Given the description of an element on the screen output the (x, y) to click on. 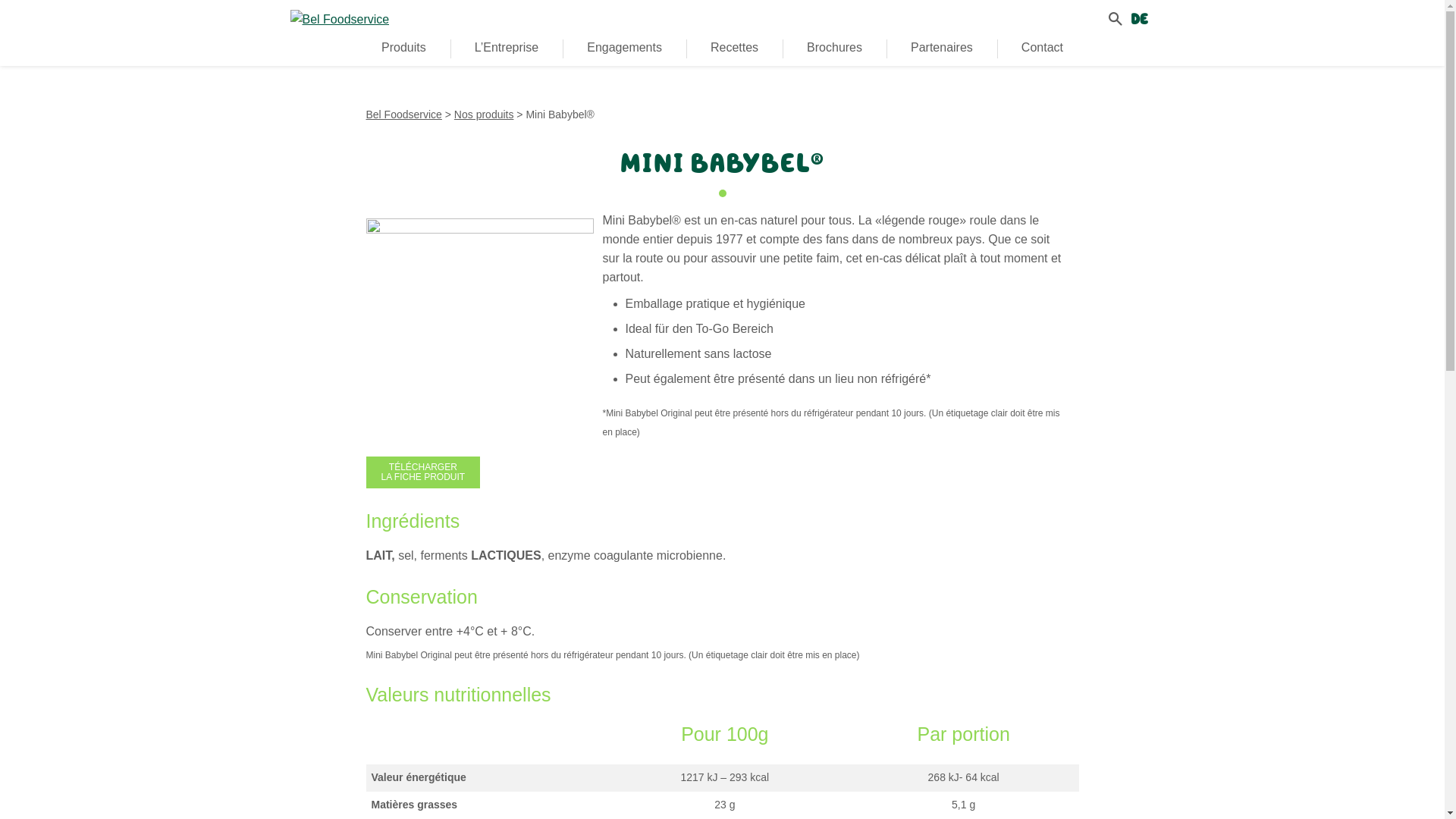
Bel Foodservice Element type: text (403, 114)
Contact Element type: text (1042, 47)
Partenaires Element type: text (941, 47)
DE Element type: text (1137, 18)
Nos produits Element type: text (484, 114)
Produits Element type: text (403, 47)
Brochures Element type: text (834, 47)
Engagements Element type: text (624, 47)
Recettes Element type: text (734, 47)
